Given the description of an element on the screen output the (x, y) to click on. 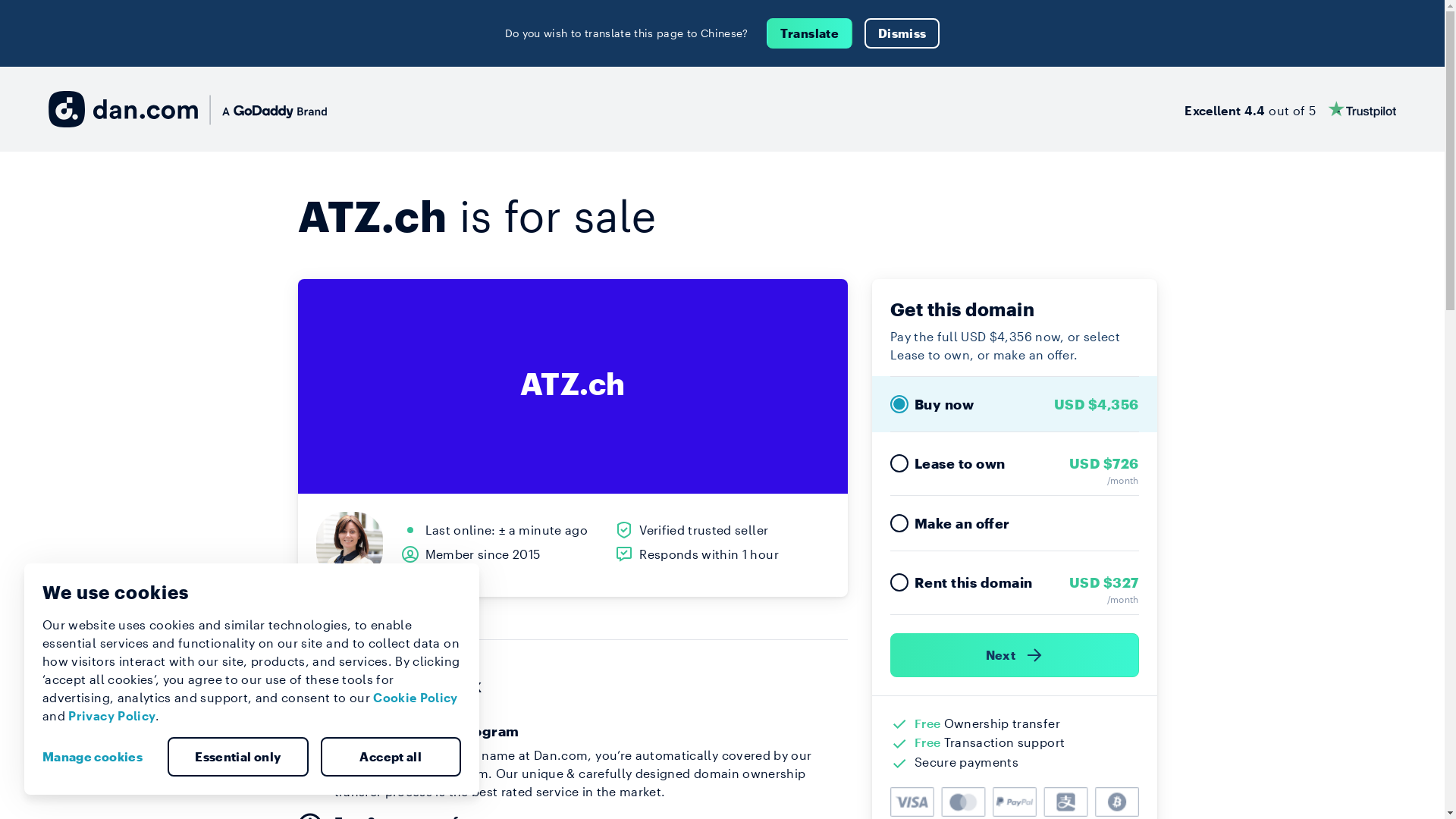
Translate Element type: text (809, 33)
Cookie Policy Element type: text (415, 697)
Dismiss Element type: text (901, 33)
Next
) Element type: text (1014, 655)
Privacy Policy Element type: text (111, 715)
Essential only Element type: text (237, 756)
Manage cookies Element type: text (98, 756)
Excellent 4.4 out of 5 Element type: text (1290, 109)
Accept all Element type: text (390, 756)
